Given the description of an element on the screen output the (x, y) to click on. 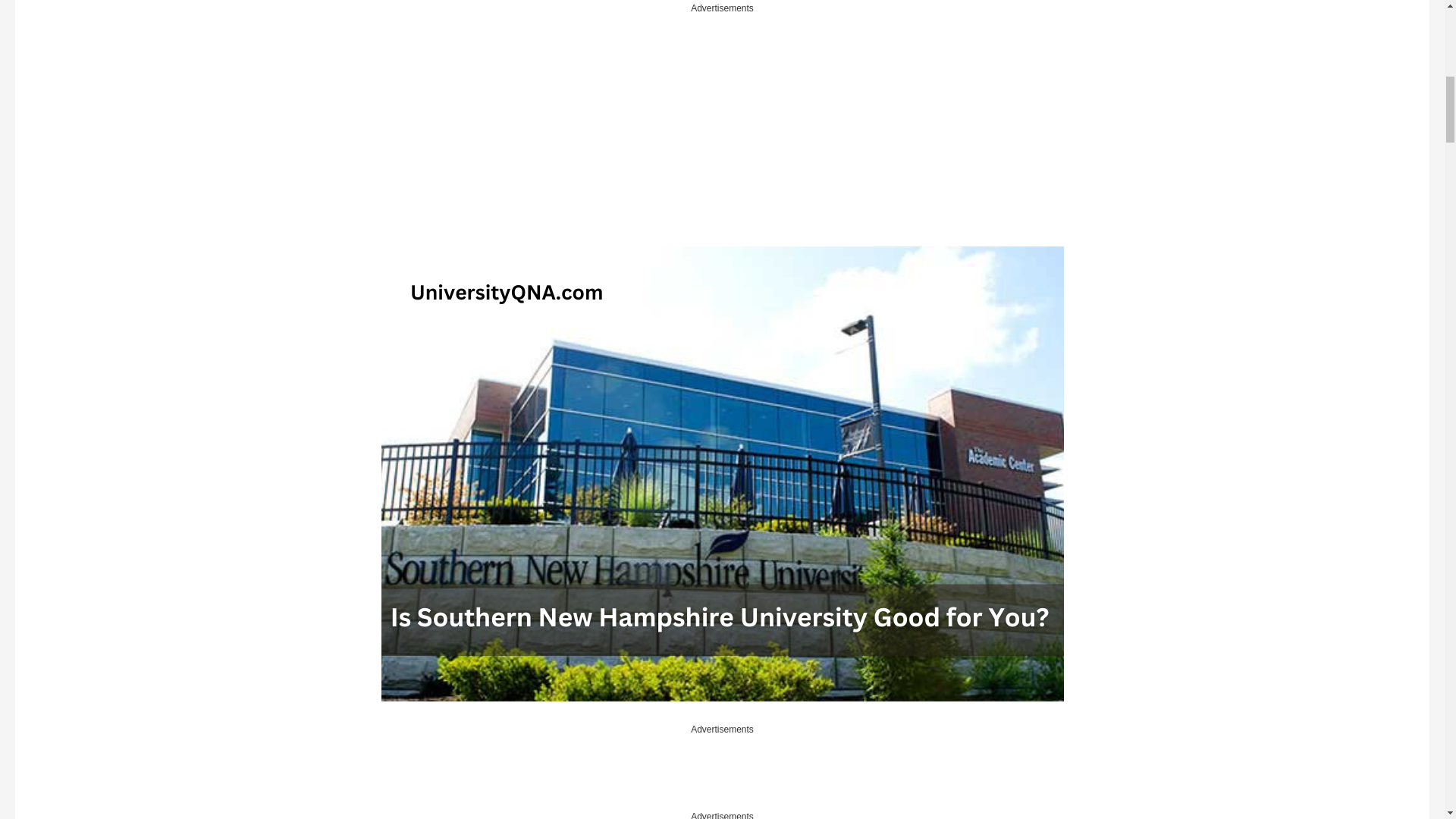
Advertisement (721, 771)
Advertisement (235, 130)
